Given the description of an element on the screen output the (x, y) to click on. 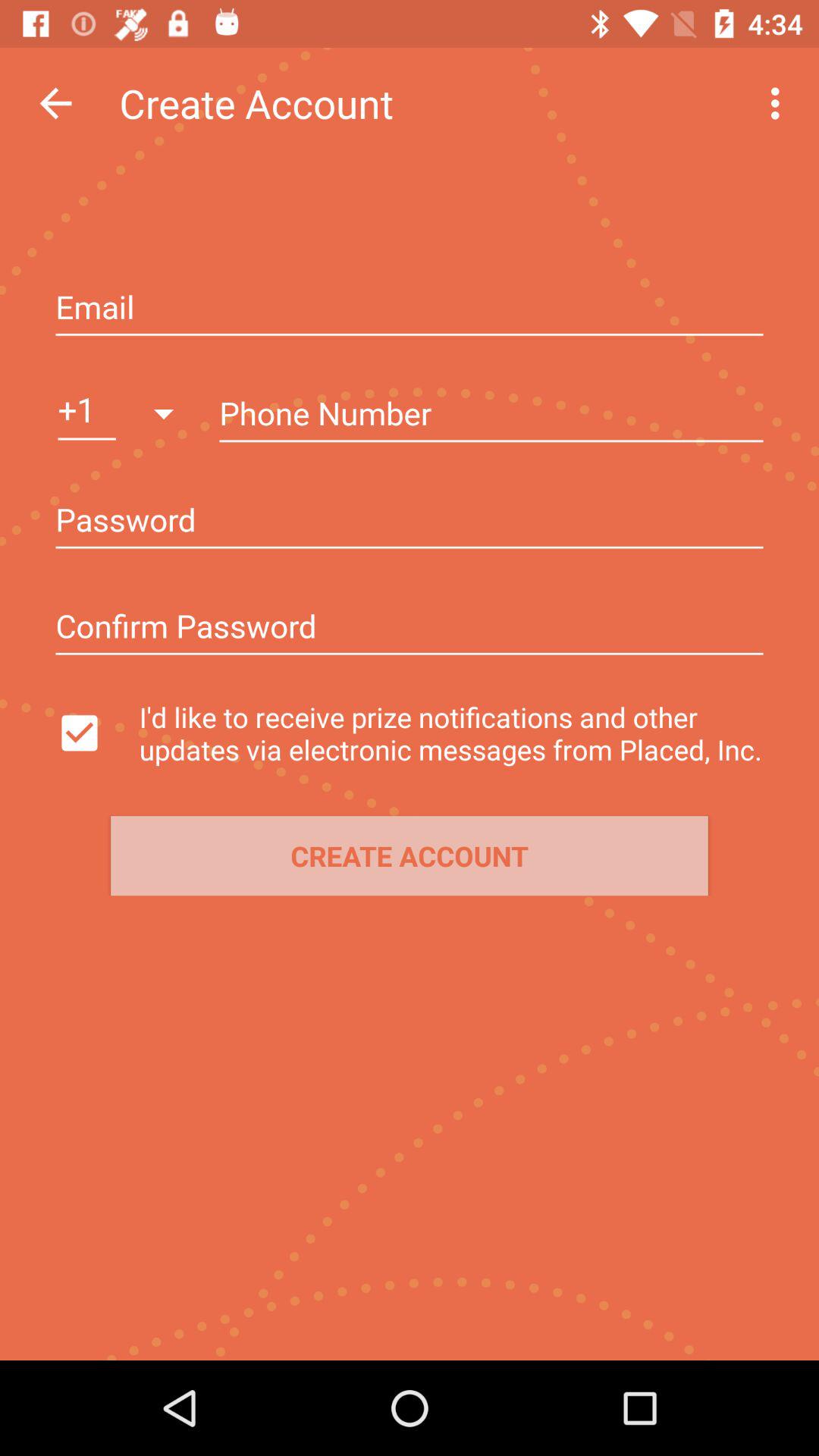
redeem points for miles airline gift (409, 308)
